Given the description of an element on the screen output the (x, y) to click on. 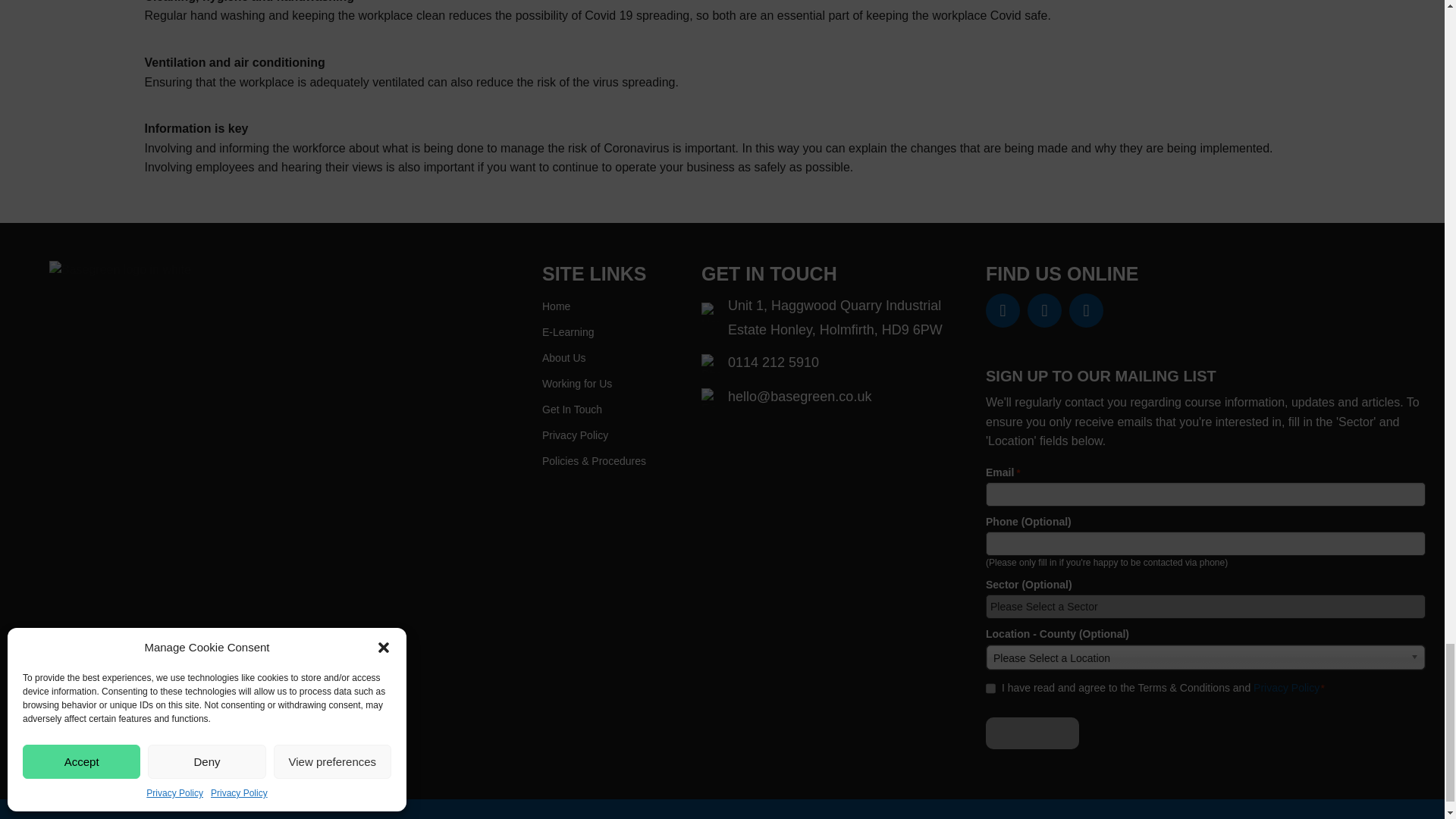
Submit (1031, 733)
